Given the description of an element on the screen output the (x, y) to click on. 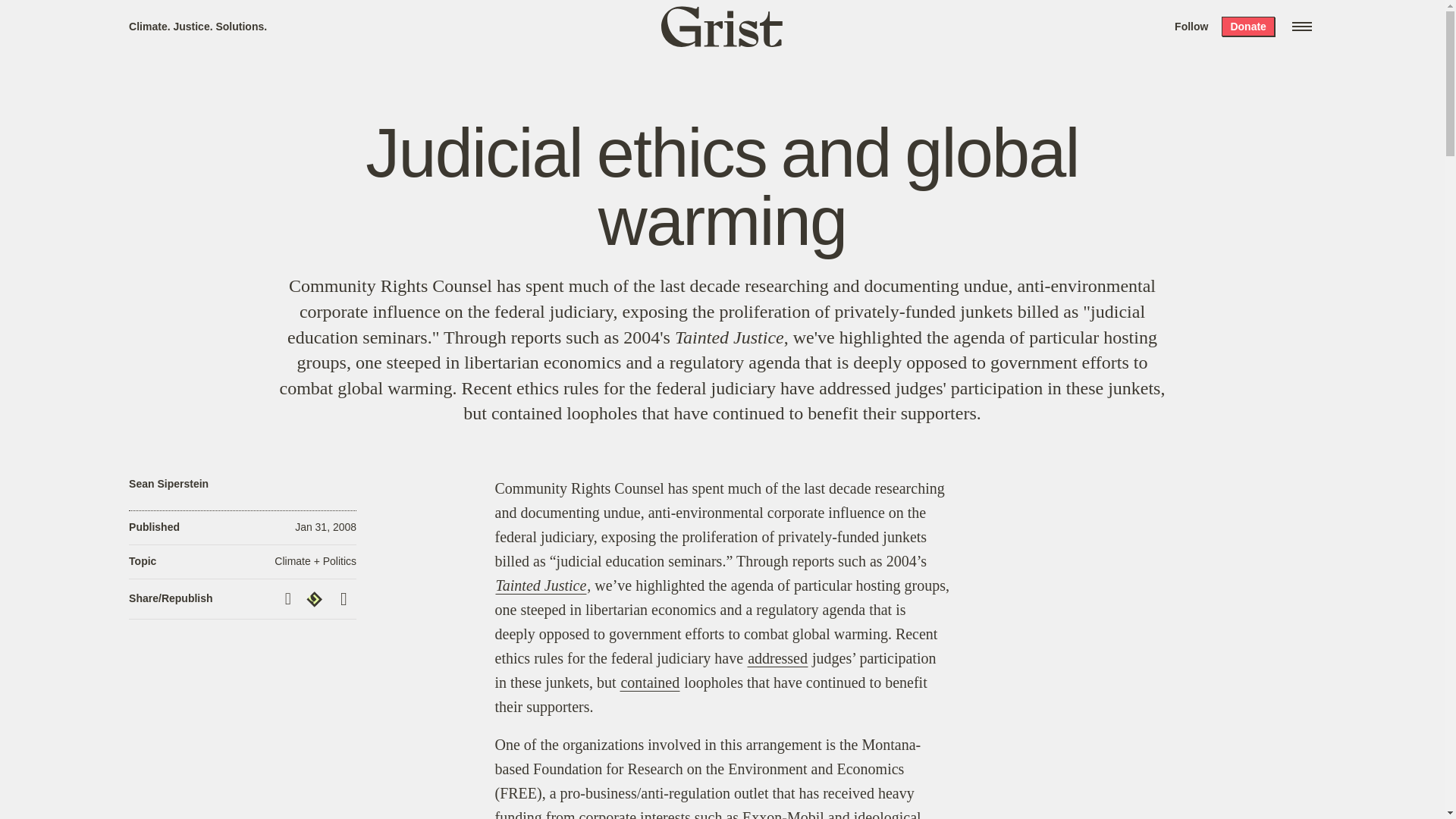
Grist home (722, 25)
Copy article link (289, 598)
Donate (1247, 26)
Search (227, 18)
Follow (1191, 26)
Tainted Justice (729, 337)
Republish the article (316, 598)
